Given the description of an element on the screen output the (x, y) to click on. 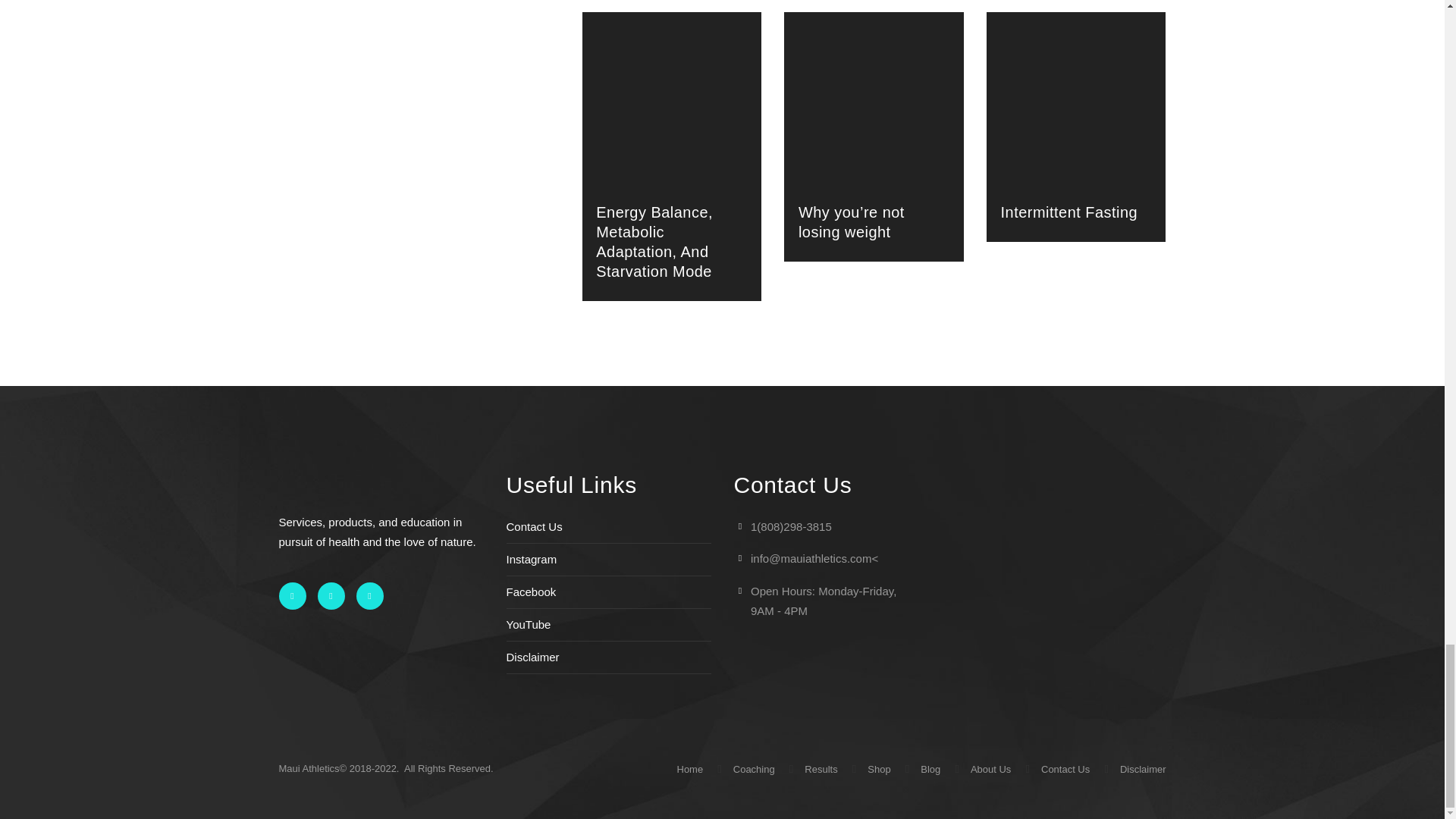
Energy Balance, Metabolic Adaptation, And Starvation Mode (654, 241)
